Given the description of an element on the screen output the (x, y) to click on. 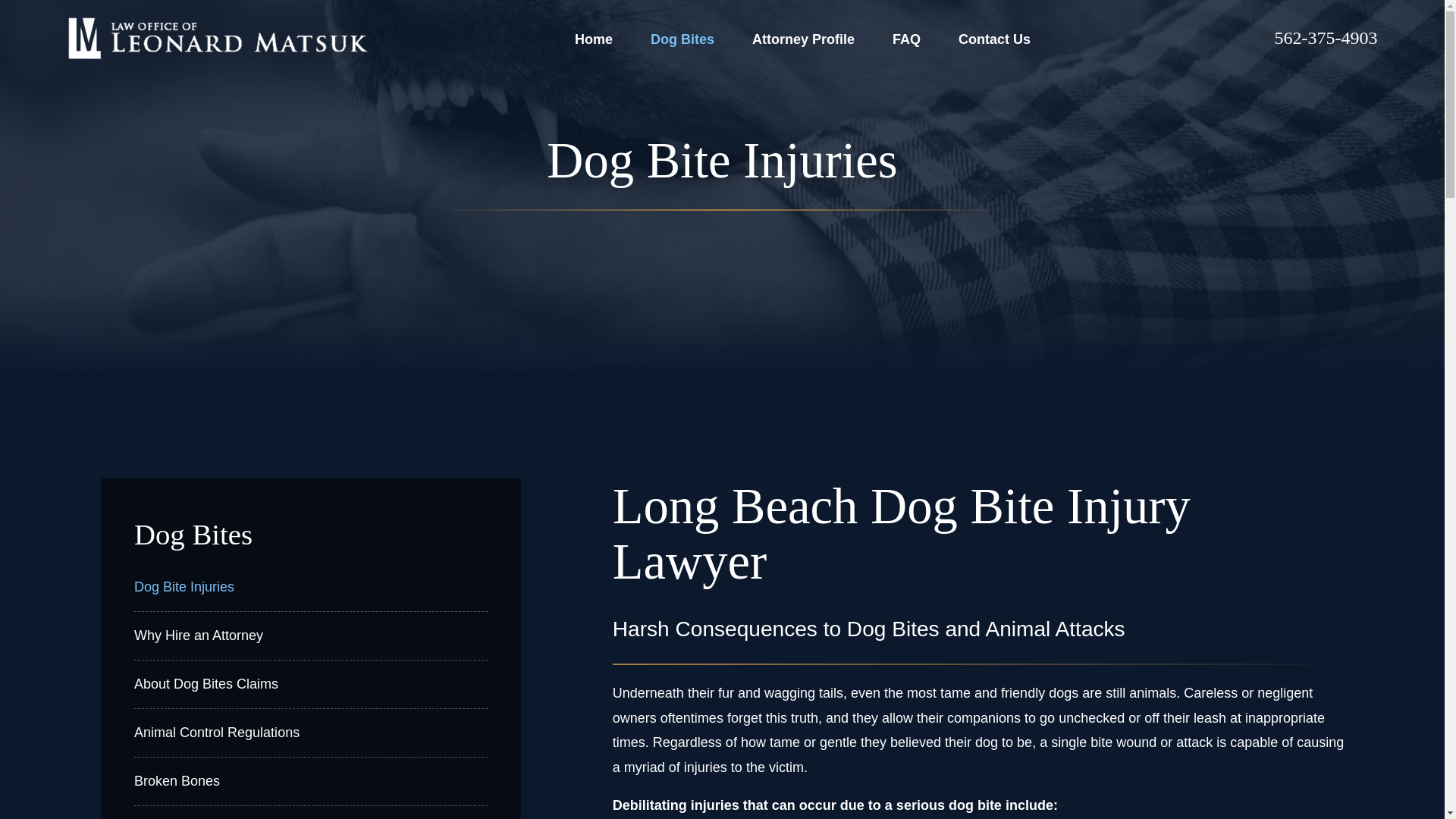
Dog Bites (682, 39)
Home (593, 39)
Contact Us (994, 39)
Home (217, 39)
FAQ (906, 39)
Attorney Profile (803, 39)
